Given the description of an element on the screen output the (x, y) to click on. 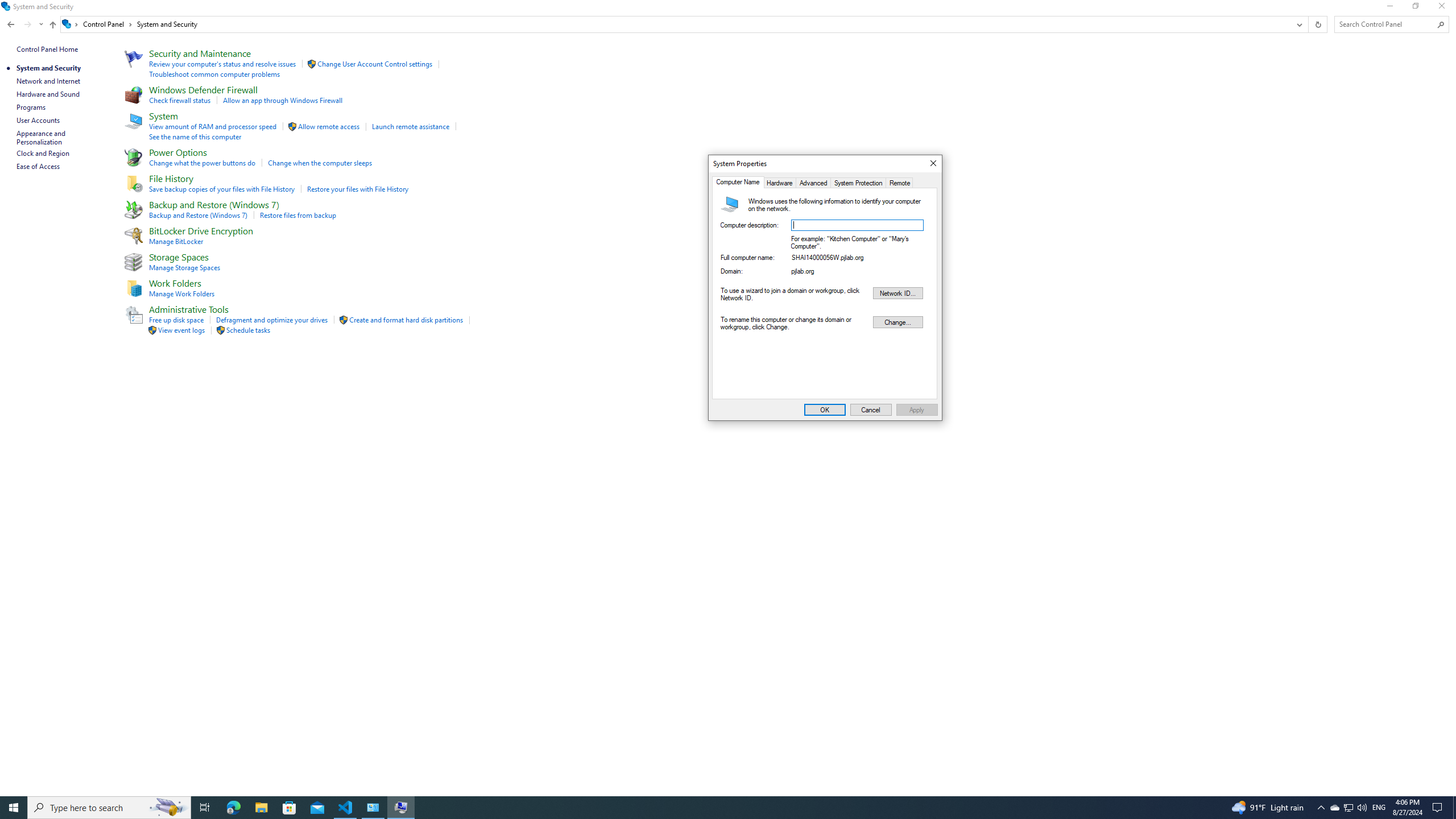
Cancel (871, 409)
Full computer name: (856, 259)
Tray Input Indicator - English (United States) (1378, 807)
Start (1333, 807)
Computer description: (13, 807)
Notification Chevron (856, 224)
System Protection (1320, 807)
Action Center, No new notifications (858, 182)
Running applications (1439, 807)
Q2790: 100% (706, 807)
File Explorer (1361, 807)
Close (261, 807)
Visual Studio Code - 1 running window (932, 163)
